Given the description of an element on the screen output the (x, y) to click on. 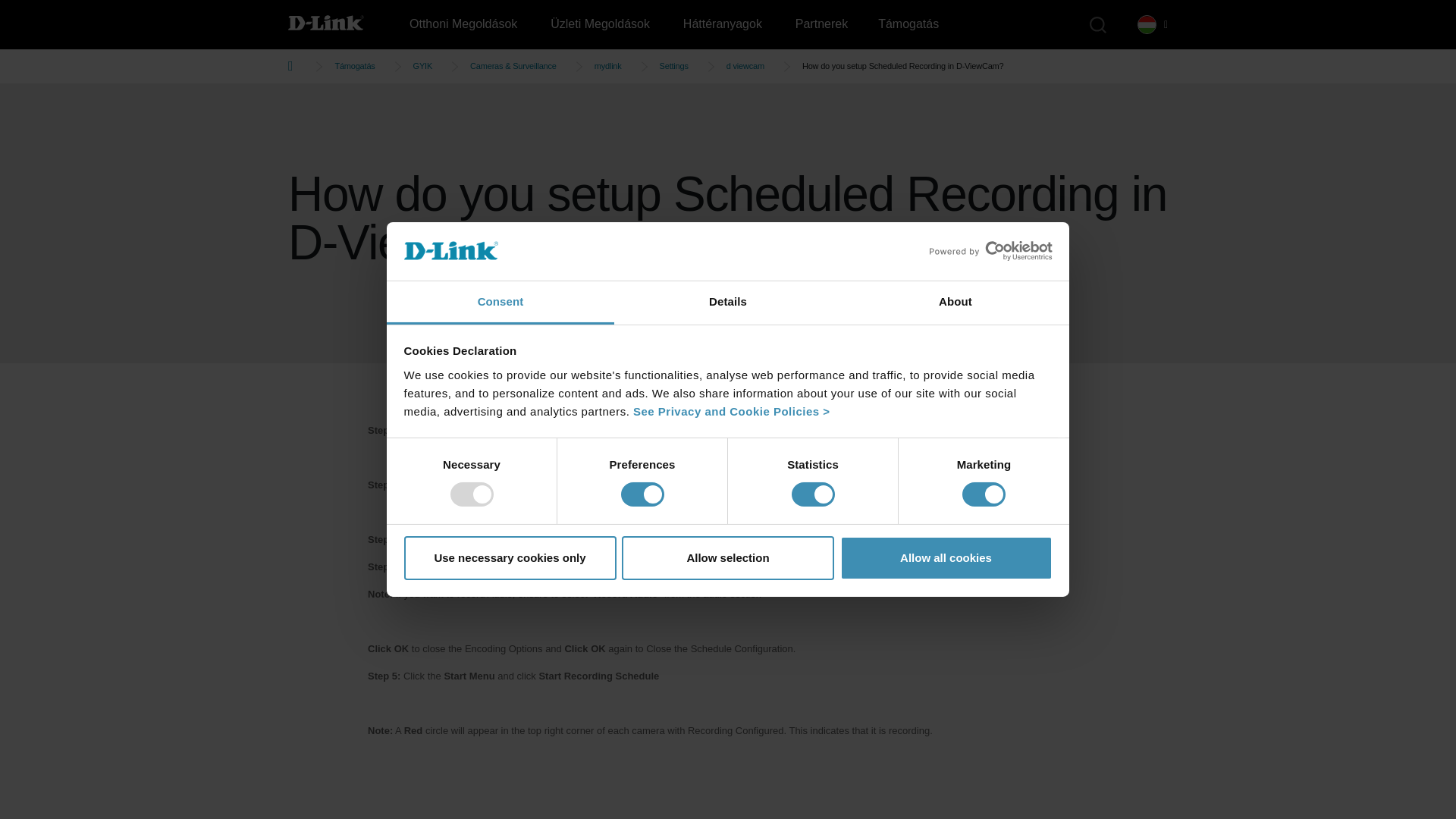
About (954, 302)
Consent (500, 302)
Learn more about eu.dlink.com cookies (731, 410)
Details (727, 302)
